Given the description of an element on the screen output the (x, y) to click on. 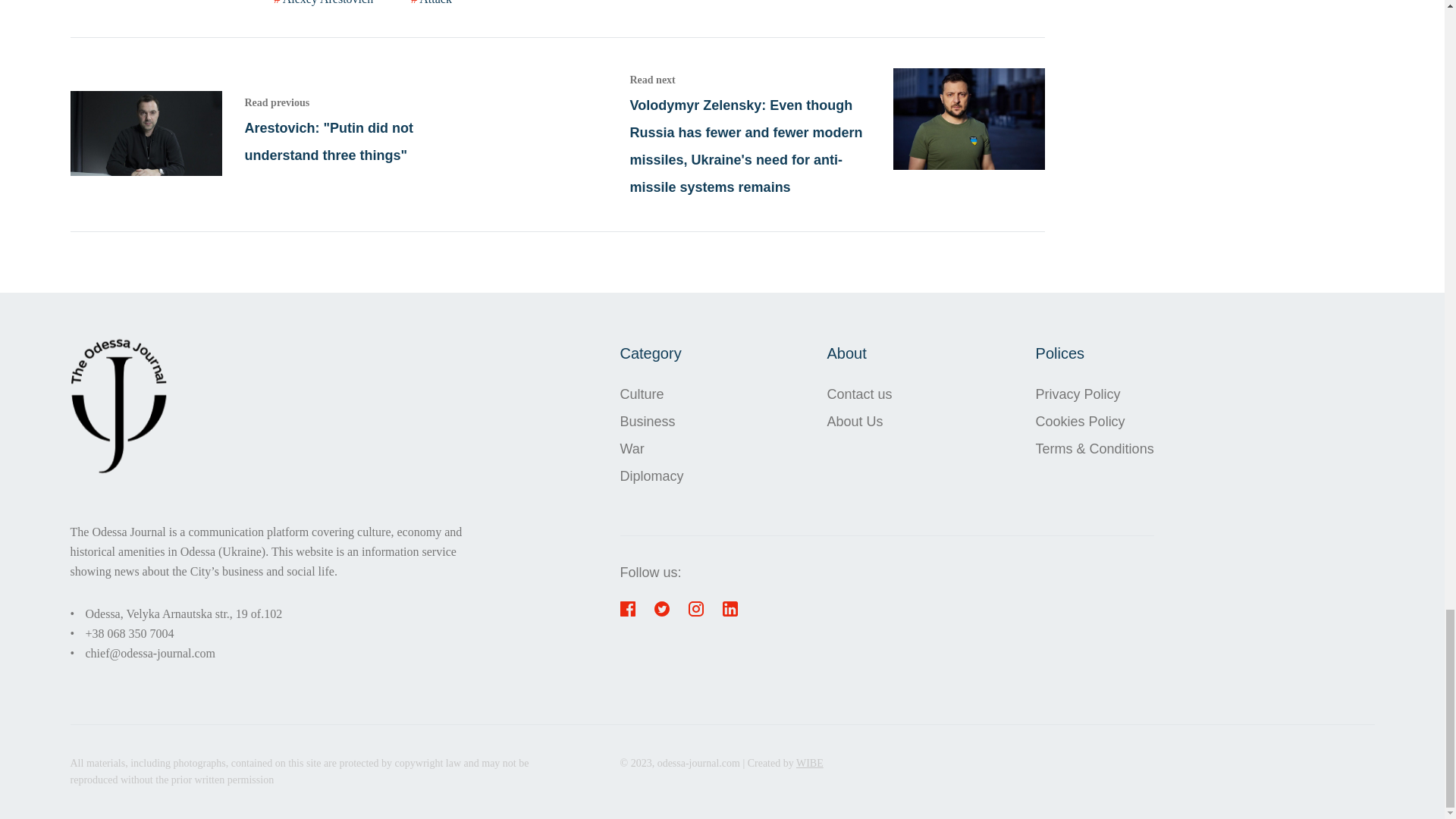
Odessa, Velyka Arnautska str., 19 of.102 (183, 613)
Read (276, 134)
Diplomacy (652, 475)
War (652, 448)
Attack (430, 3)
Culture (652, 393)
About Us (859, 420)
Business (652, 420)
Alexey Arestovich (324, 3)
Read (835, 133)
Culture (652, 393)
Privacy Policy (1094, 393)
Contact us (859, 393)
Cookies Policy (1094, 420)
